Given the description of an element on the screen output the (x, y) to click on. 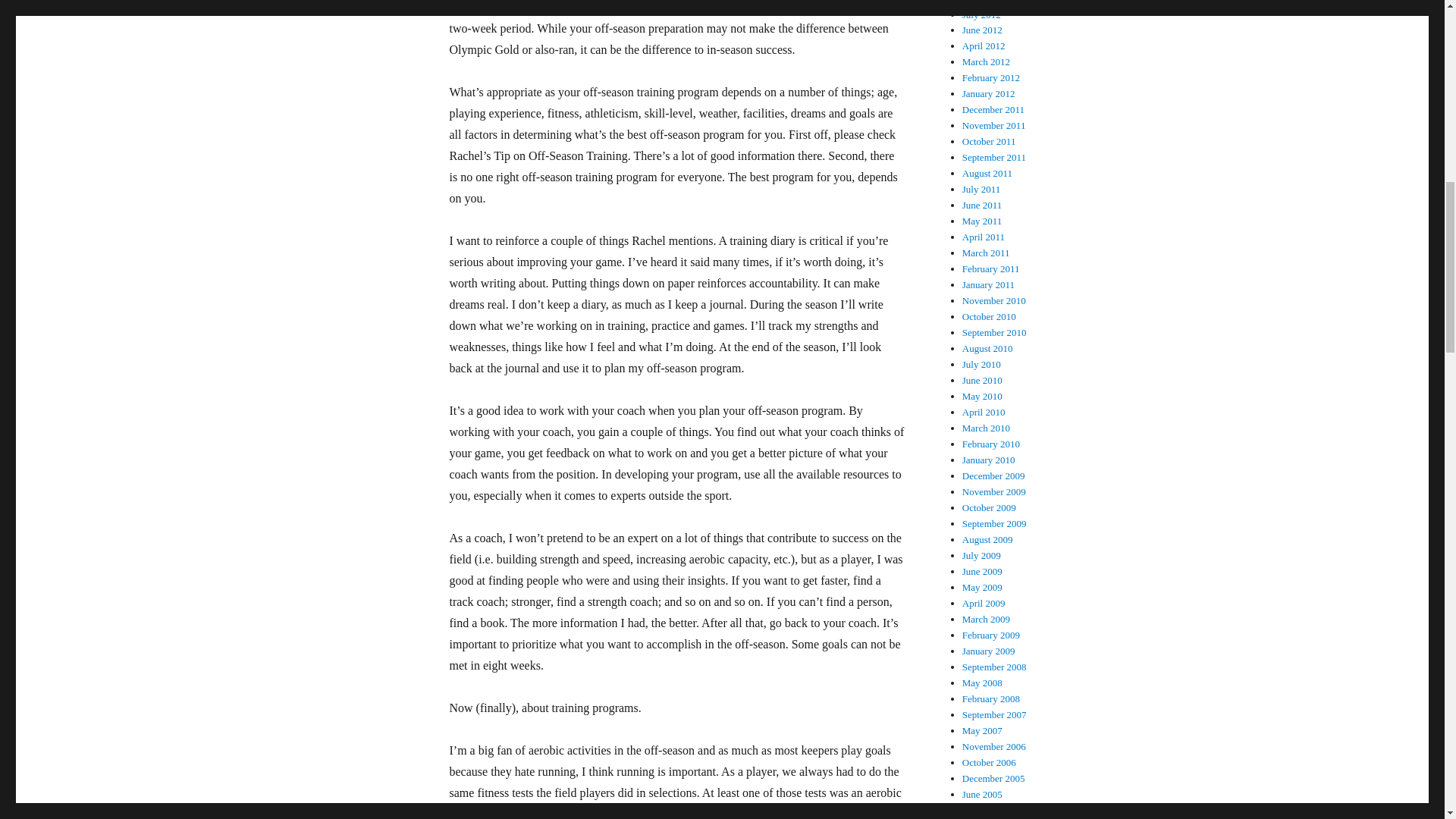
February 2012 (991, 77)
August 2012 (987, 2)
March 2012 (986, 61)
July 2012 (981, 14)
January 2012 (988, 93)
June 2012 (982, 30)
April 2012 (984, 45)
